Given the description of an element on the screen output the (x, y) to click on. 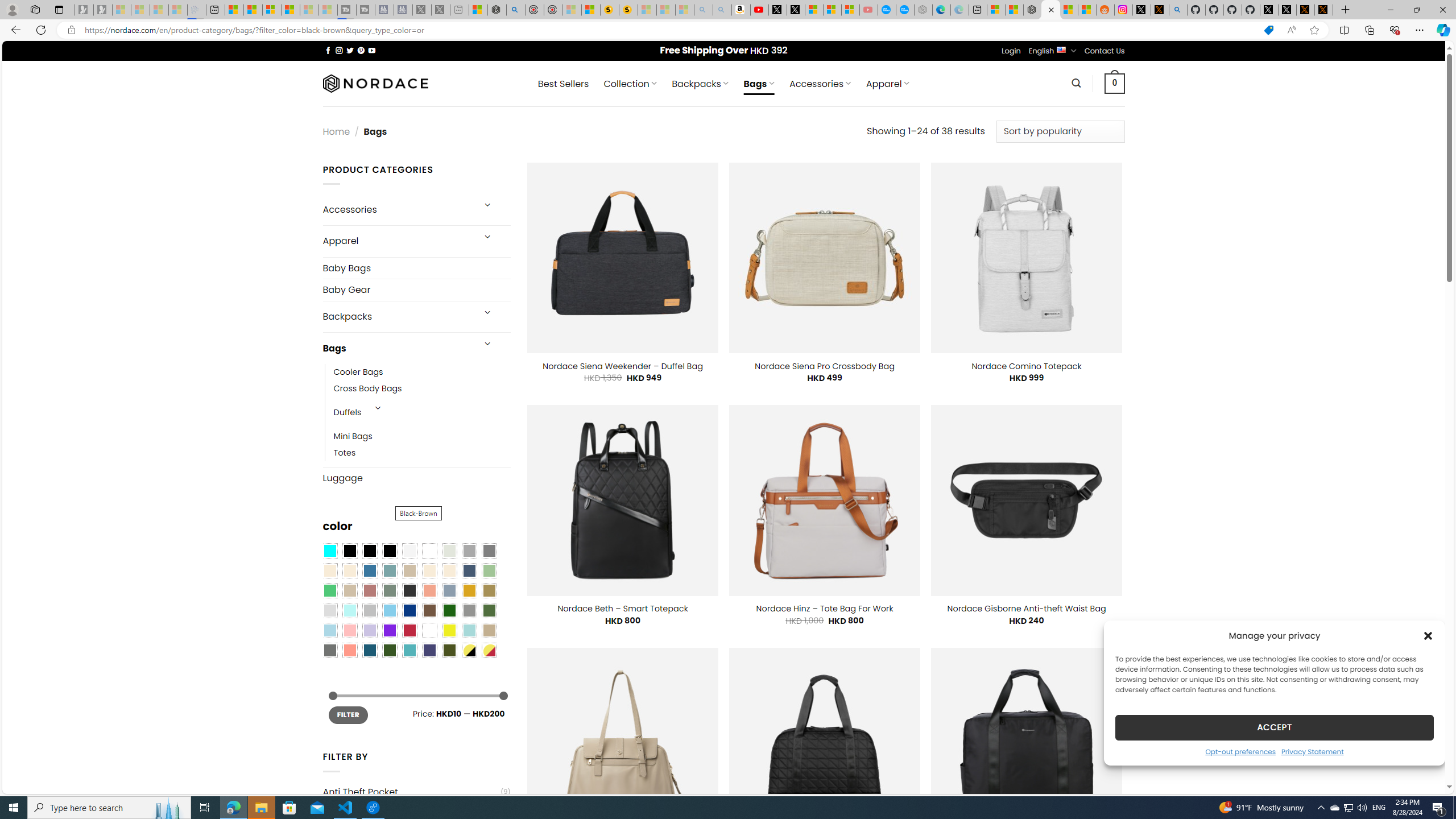
amazon - Search - Sleeping (702, 9)
Nordace - Summer Adventures 2024 (497, 9)
Microsoft account | Microsoft Account Privacy Settings (996, 9)
Amazon Echo Dot PNG - Search Images - Sleeping (721, 9)
Black-Brown (389, 550)
Purple Navy (429, 649)
Follow on Pinterest (360, 49)
  Best Sellers (563, 83)
Army Green (449, 649)
